Given the description of an element on the screen output the (x, y) to click on. 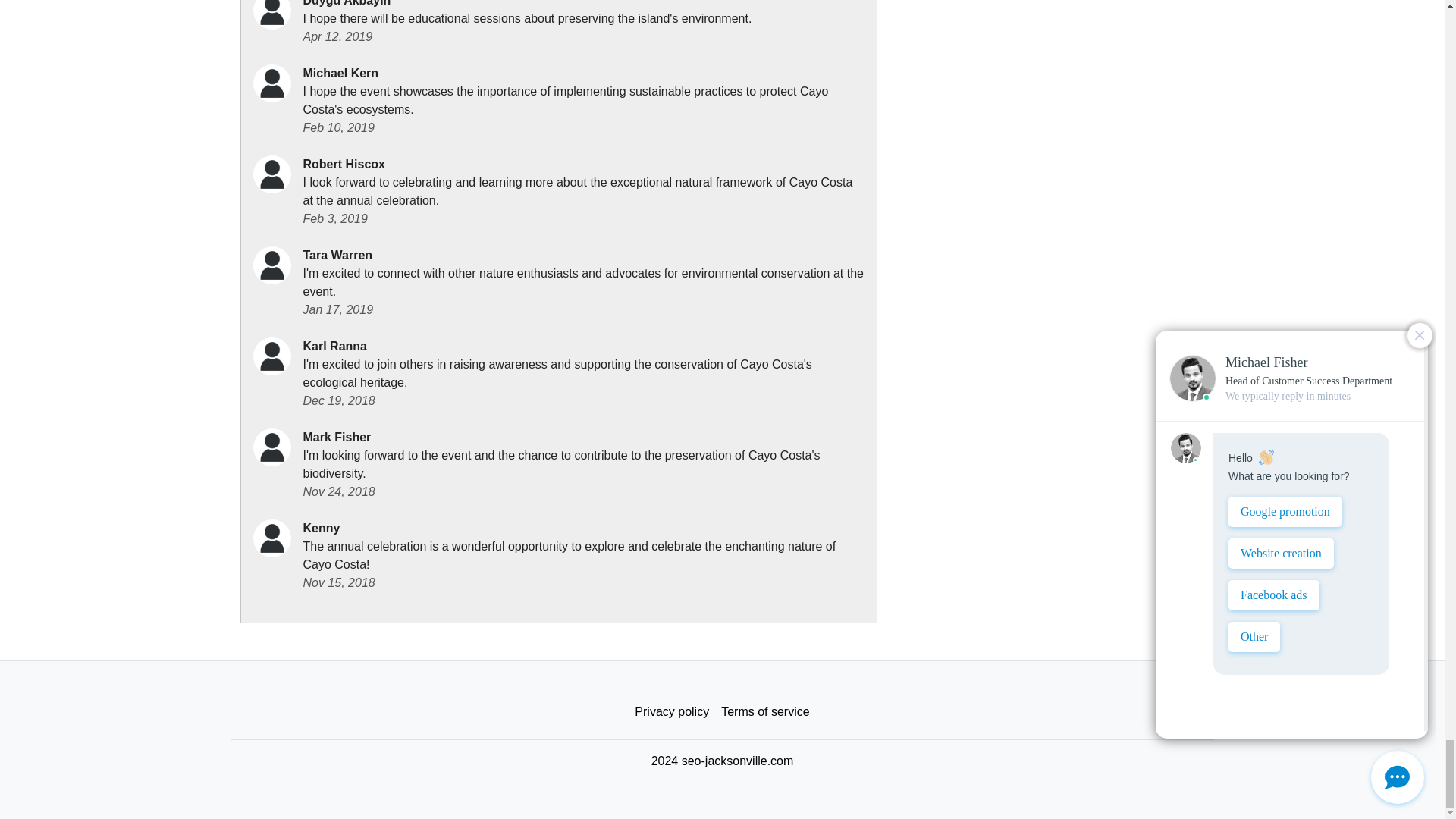
Terms of service (764, 711)
Privacy policy (671, 711)
